Given the description of an element on the screen output the (x, y) to click on. 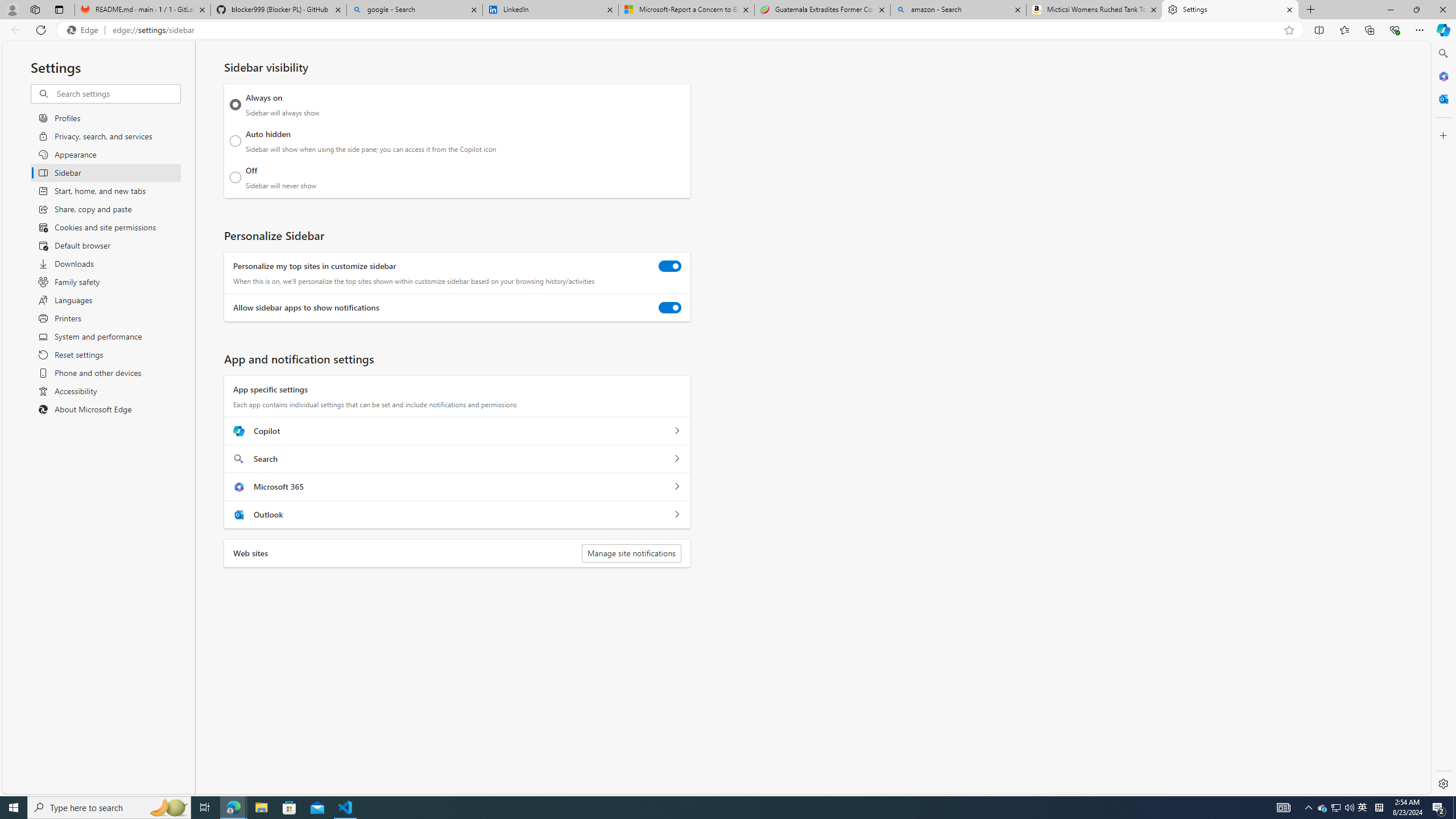
Allow sidebar apps to show notifications (669, 307)
Edge (84, 29)
Off Sidebar will never show (235, 177)
